Given the description of an element on the screen output the (x, y) to click on. 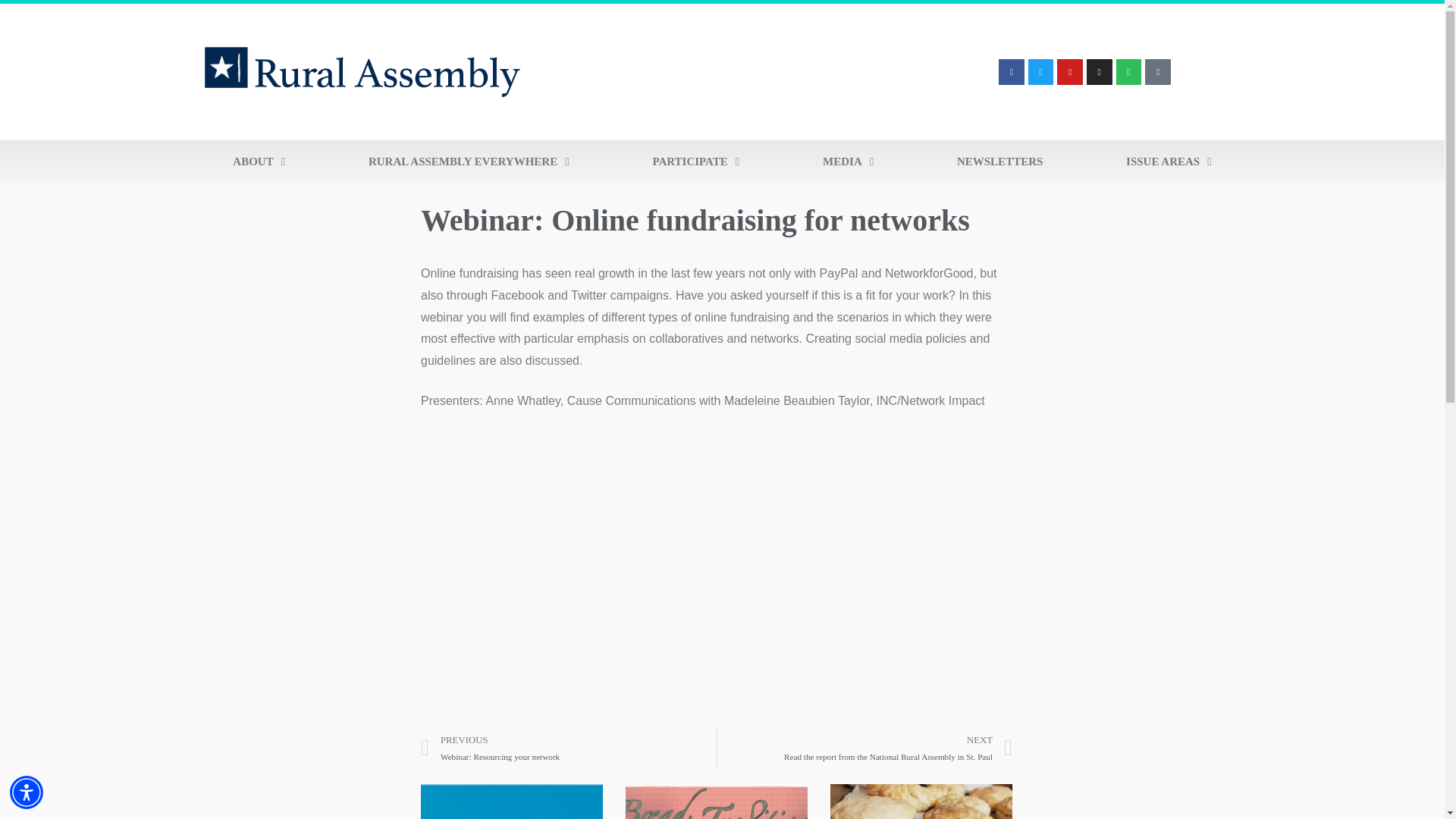
MEDIA (847, 161)
RURAL ASSEMBLY EVERYWHERE (468, 161)
NEWSLETTERS (999, 161)
ISSUE AREAS (1168, 161)
ABOUT (258, 161)
PARTICIPATE (696, 161)
Accessibility Menu (26, 792)
